Given the description of an element on the screen output the (x, y) to click on. 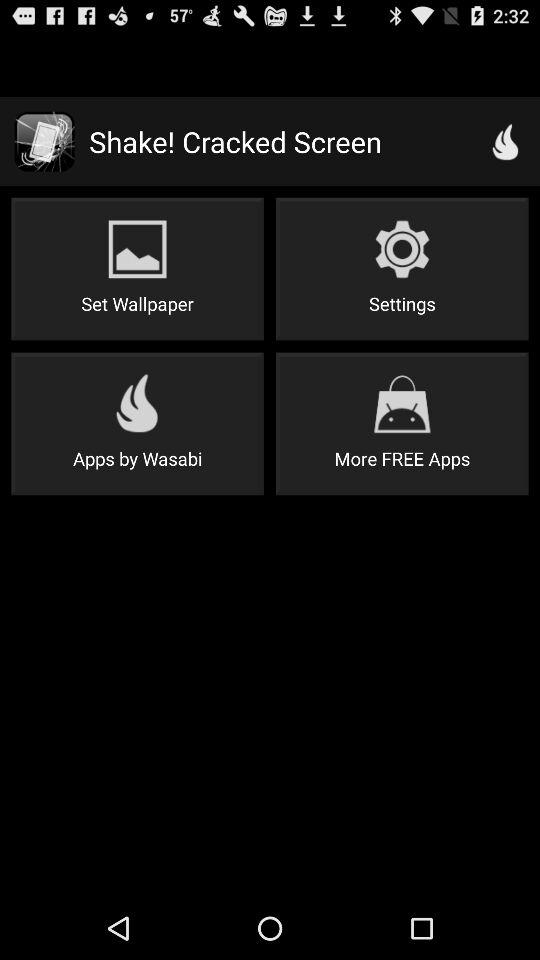
open more free apps on the right (402, 423)
